Given the description of an element on the screen output the (x, y) to click on. 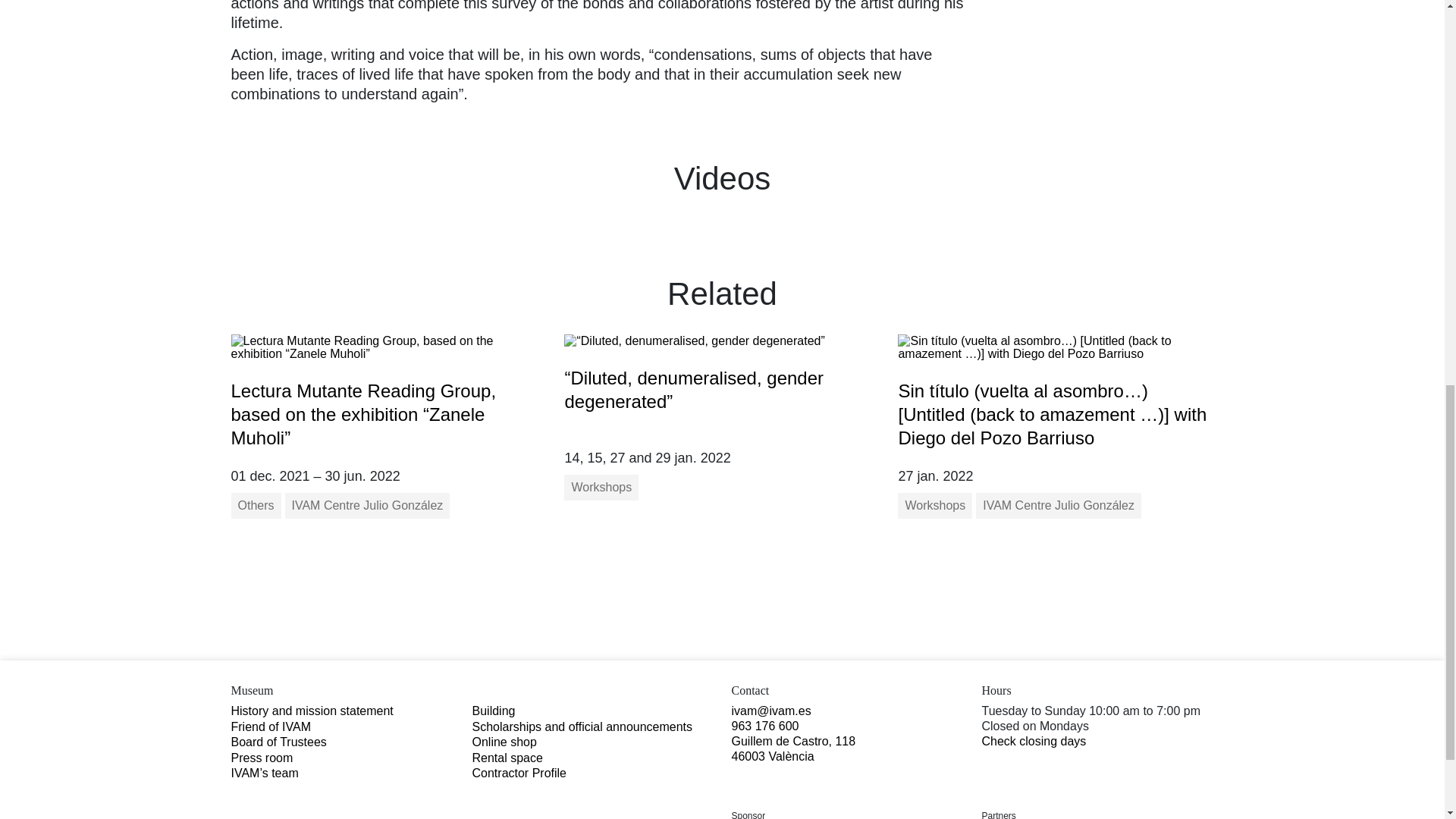
History and mission statement (311, 710)
Board of Trustees (278, 741)
maps (793, 748)
Press room (261, 757)
Friend of IVAM (270, 726)
